Given the description of an element on the screen output the (x, y) to click on. 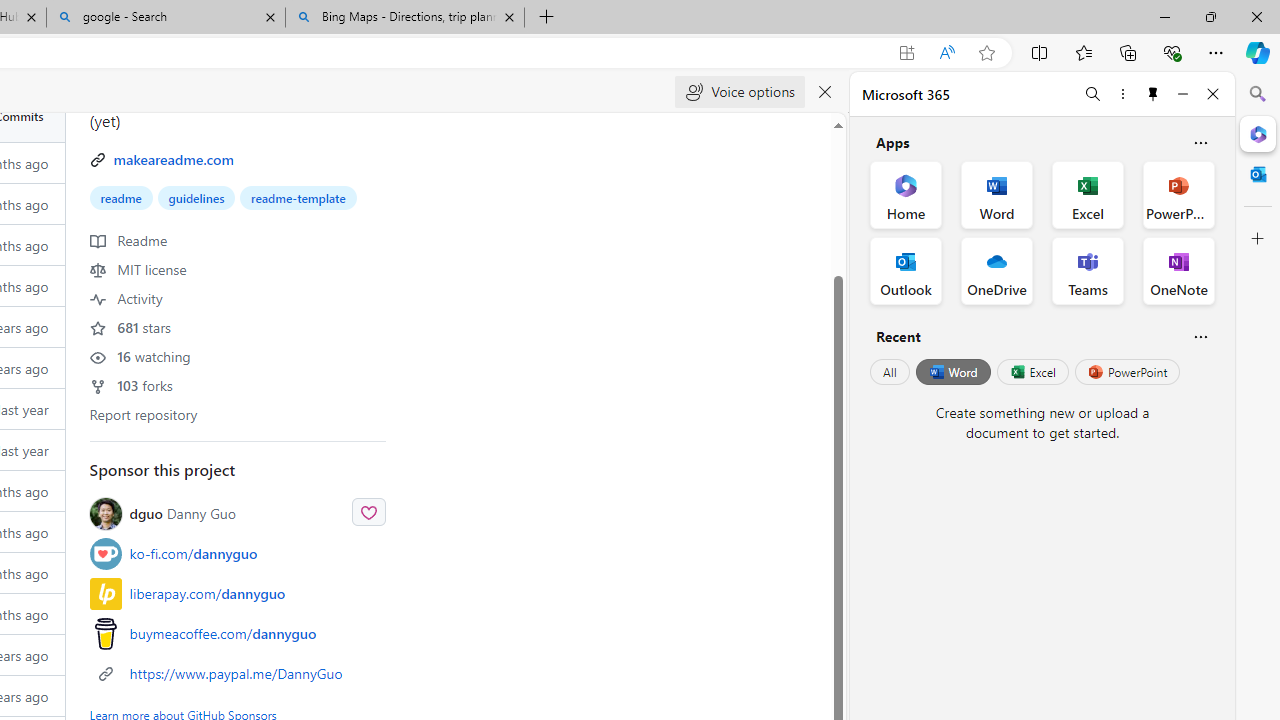
ko-fi.com/dannyguo (193, 553)
buymeacoffee.com/dannyguo (223, 633)
liberapay.com/dannyguo (207, 593)
buymeacoffee.com/dannyguo (237, 633)
Sponsor @dguo (368, 511)
@dguo (105, 512)
Word (952, 372)
Word Office App (996, 194)
PowerPoint (1127, 372)
makeareadme.com (173, 159)
liberapay.com/dannyguo (237, 592)
 Readme (128, 239)
Activity (125, 298)
guidelines (196, 197)
